Given the description of an element on the screen output the (x, y) to click on. 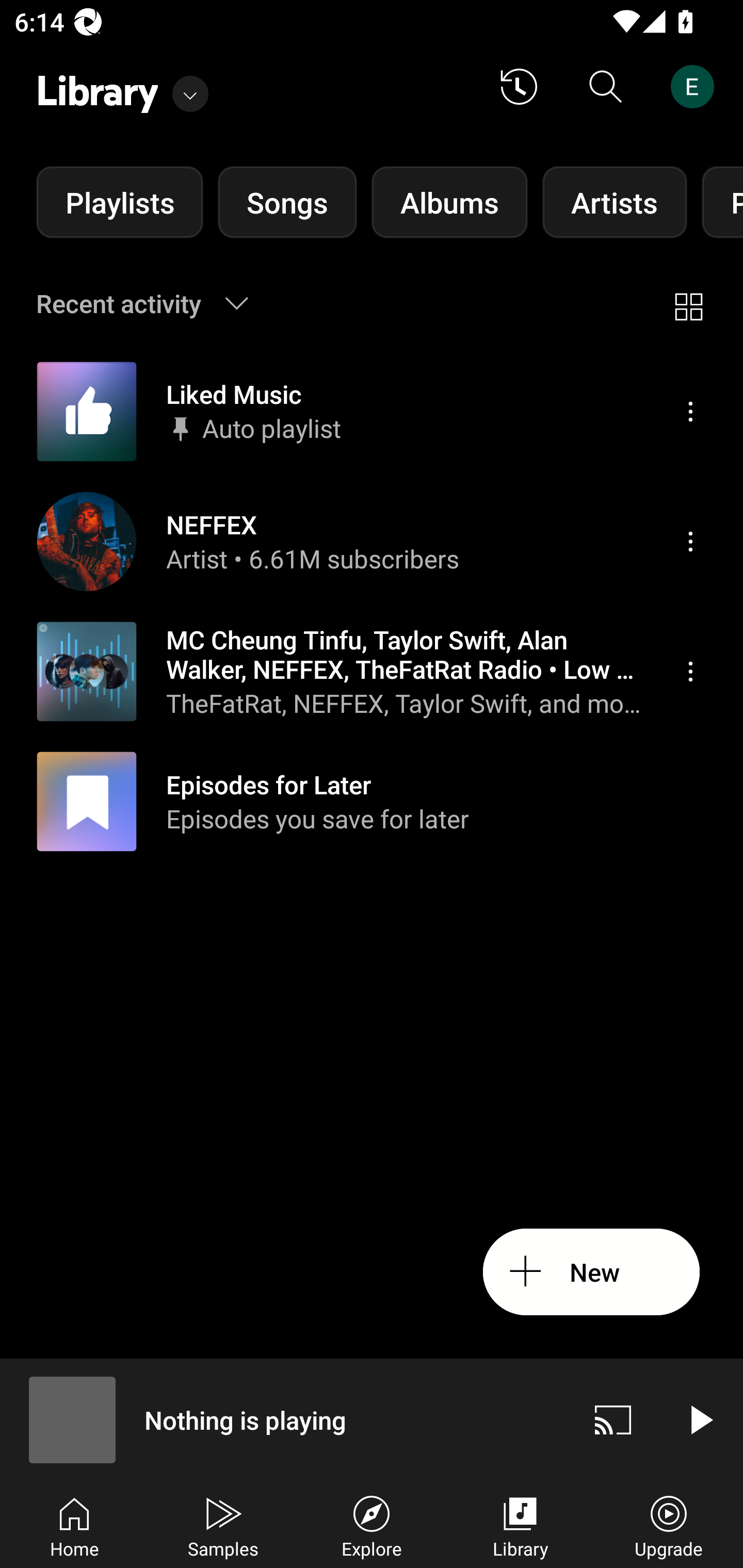
Show library landing selected Library (121, 86)
History (518, 86)
Search (605, 86)
Account (696, 86)
Recent activity selected Recent activity (154, 303)
Show in grid view (688, 303)
Menu (690, 411)
Menu (690, 540)
Menu (690, 671)
New (590, 1272)
Nothing is playing (284, 1419)
Cast. Disconnected (612, 1419)
Play video (699, 1419)
Home (74, 1524)
Samples (222, 1524)
Explore (371, 1524)
Upgrade (668, 1524)
